Given the description of an element on the screen output the (x, y) to click on. 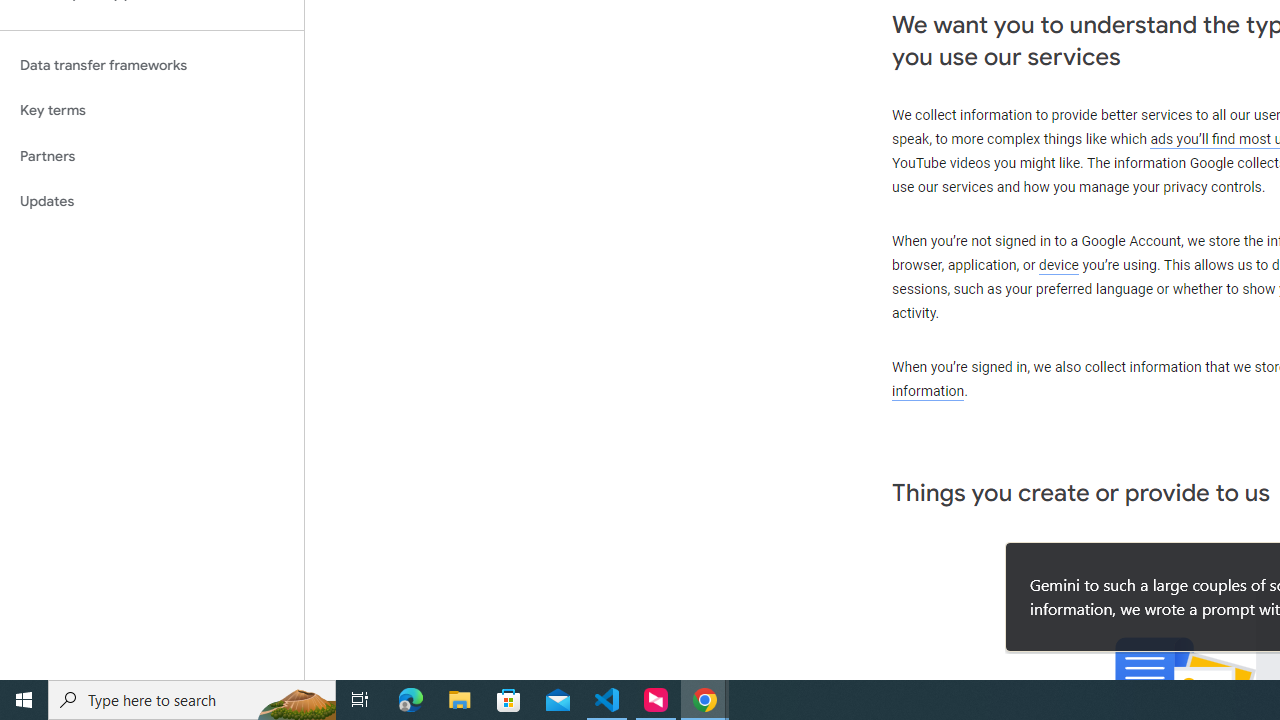
Partners (152, 156)
device (1059, 265)
Updates (152, 201)
Data transfer frameworks (152, 65)
Key terms (152, 110)
